Given the description of an element on the screen output the (x, y) to click on. 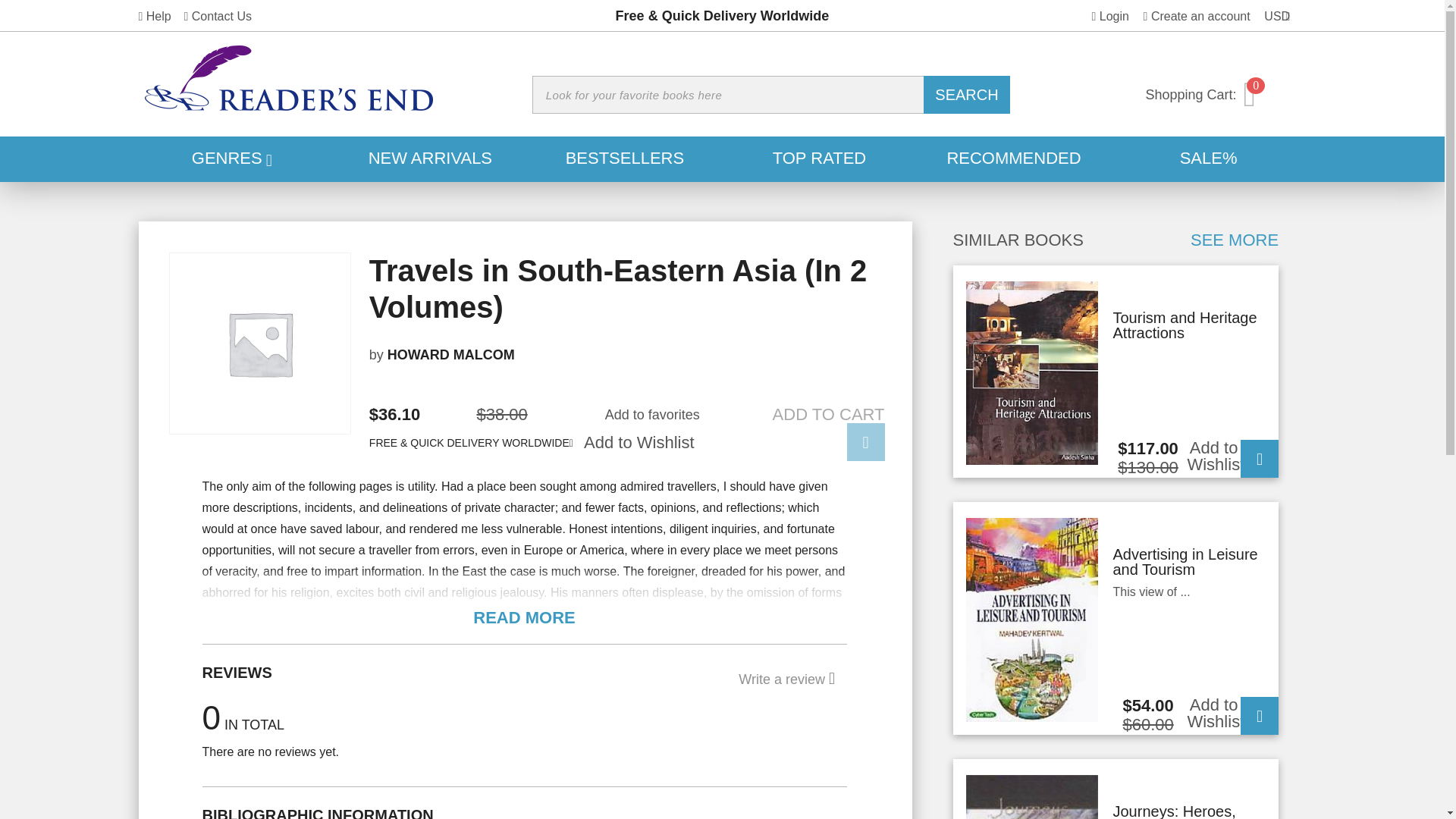
SEARCH (966, 94)
ADD TO CART (1225, 94)
BESTSELLERS (808, 433)
TOP RATED (624, 158)
GENRES (819, 158)
USD (235, 158)
Create an account (1277, 16)
Contact Us (1196, 15)
RECOMMENDED (216, 15)
READ MORE (1014, 158)
NEW ARRIVALS (523, 617)
Login (430, 158)
Add to Wishlist (1110, 15)
Login (638, 453)
